Given the description of an element on the screen output the (x, y) to click on. 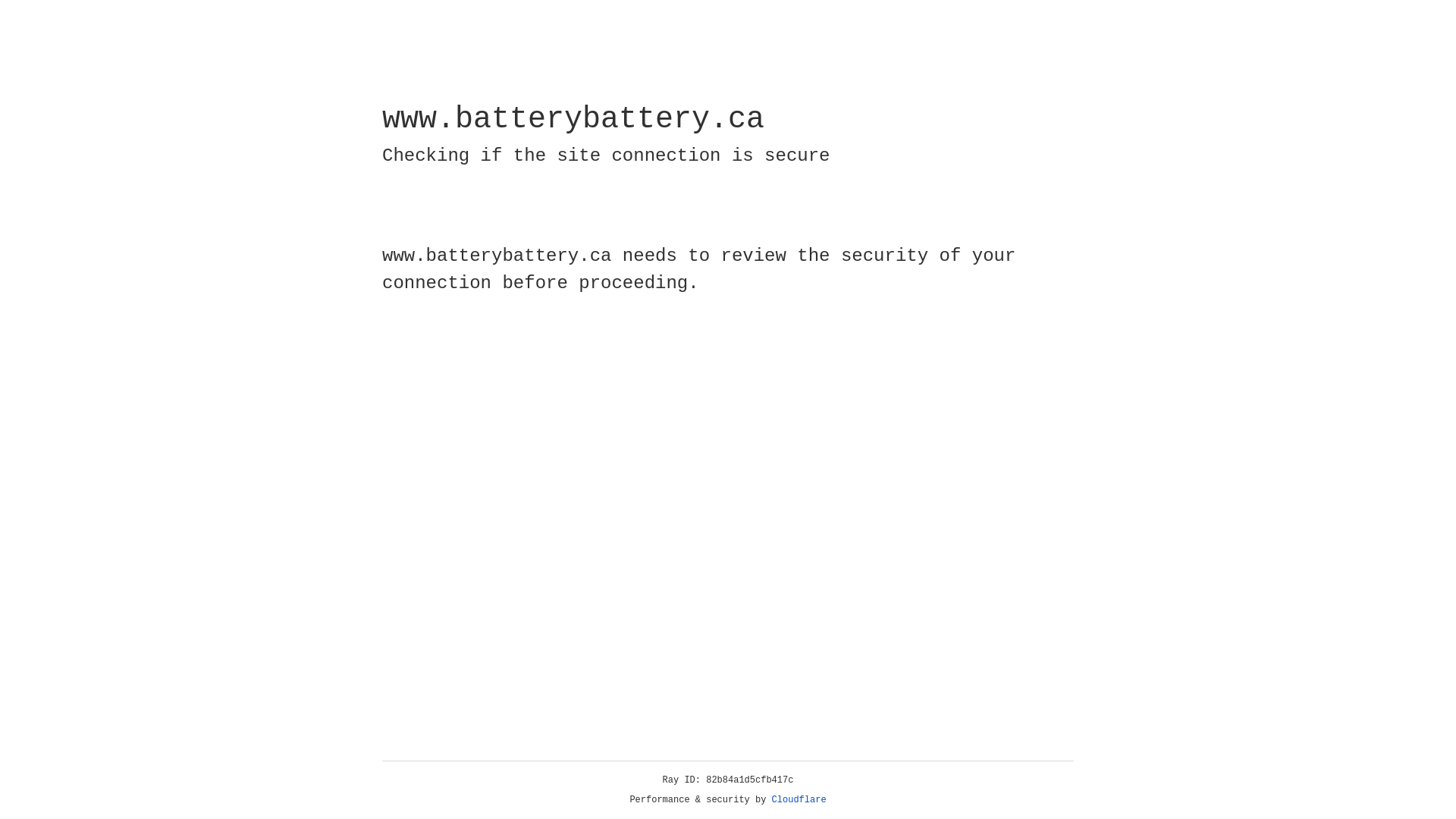
Cloudflare Element type: text (798, 799)
